Given the description of an element on the screen output the (x, y) to click on. 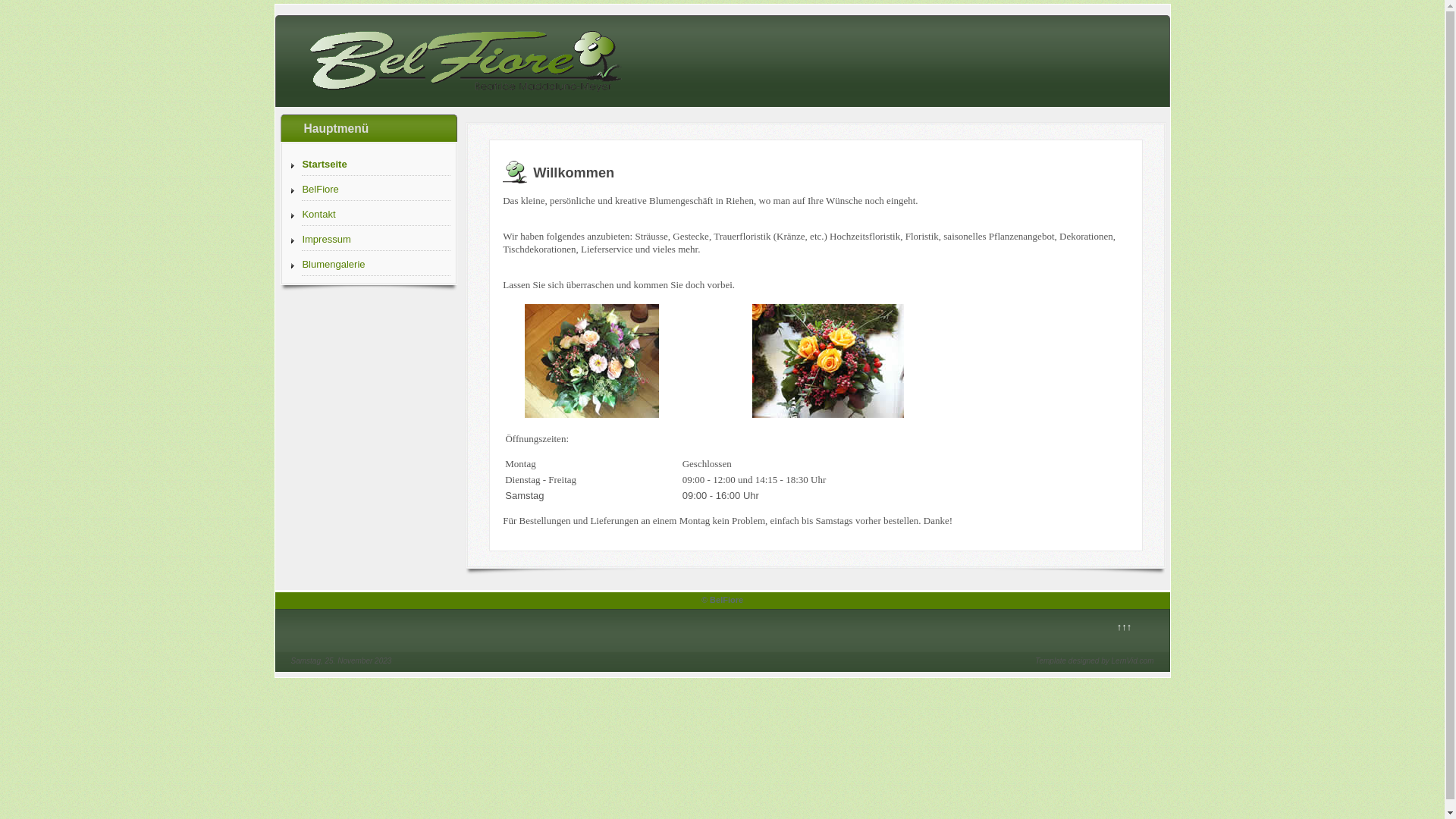
Kontakt Element type: text (375, 214)
Startseite Element type: text (375, 164)
Impressum Element type: text (375, 240)
BelFiore Element type: text (375, 189)
Blumengalerie Element type: text (375, 265)
Template designed by LernVid.com Element type: text (1094, 660)
